Given the description of an element on the screen output the (x, y) to click on. 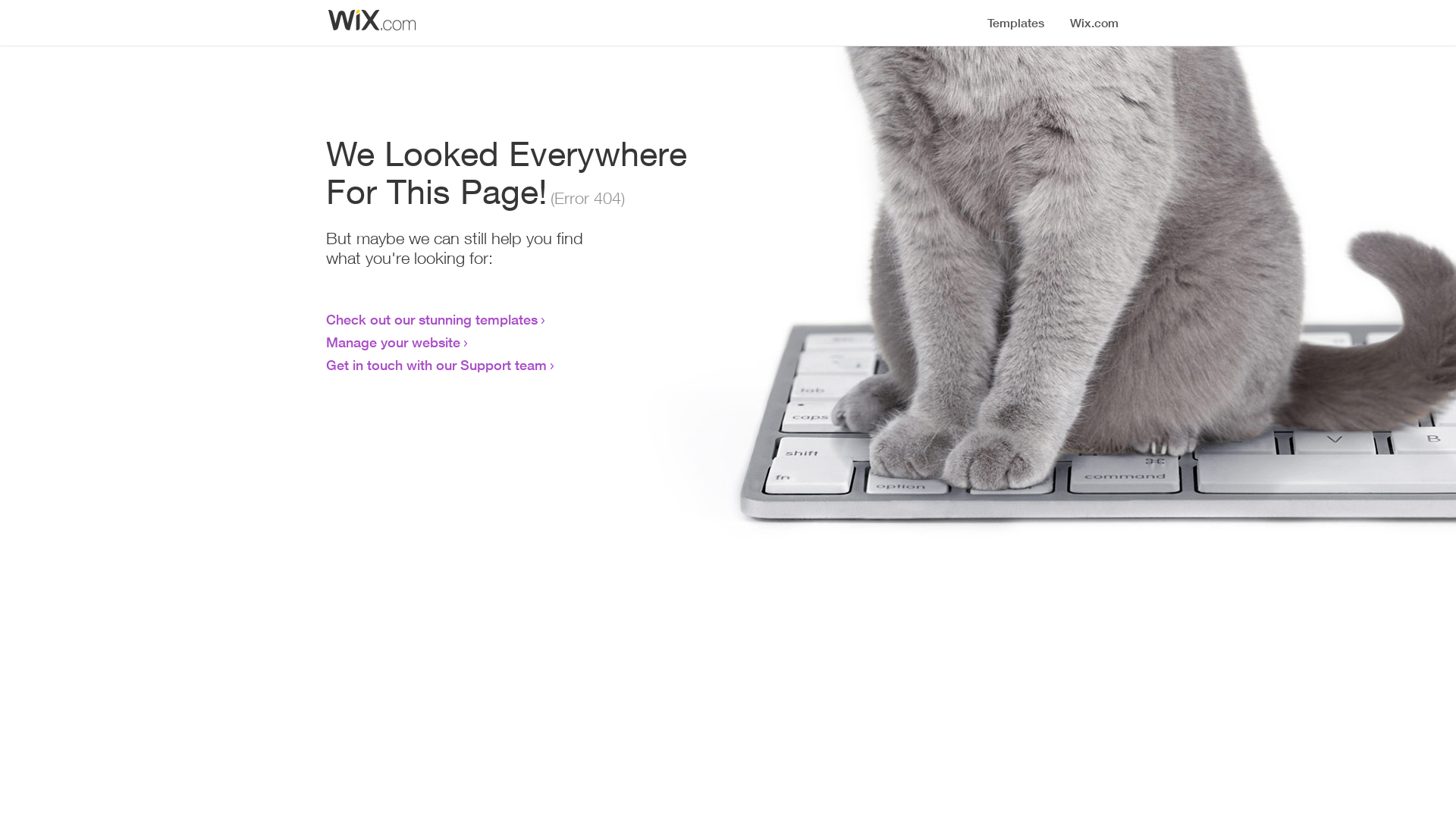
Get in touch with our Support team Element type: text (436, 364)
Manage your website Element type: text (393, 341)
Check out our stunning templates Element type: text (431, 318)
